Given the description of an element on the screen output the (x, y) to click on. 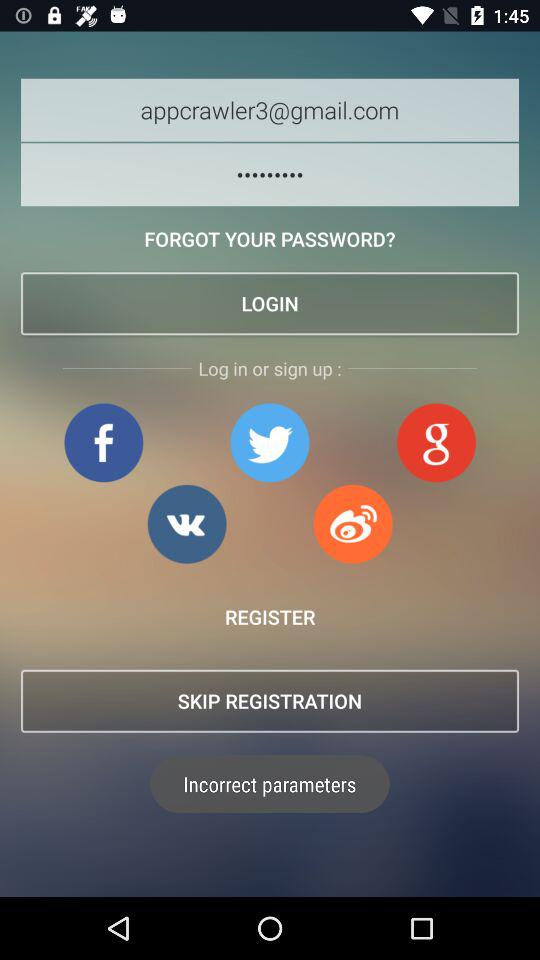
google page (186, 523)
